Given the description of an element on the screen output the (x, y) to click on. 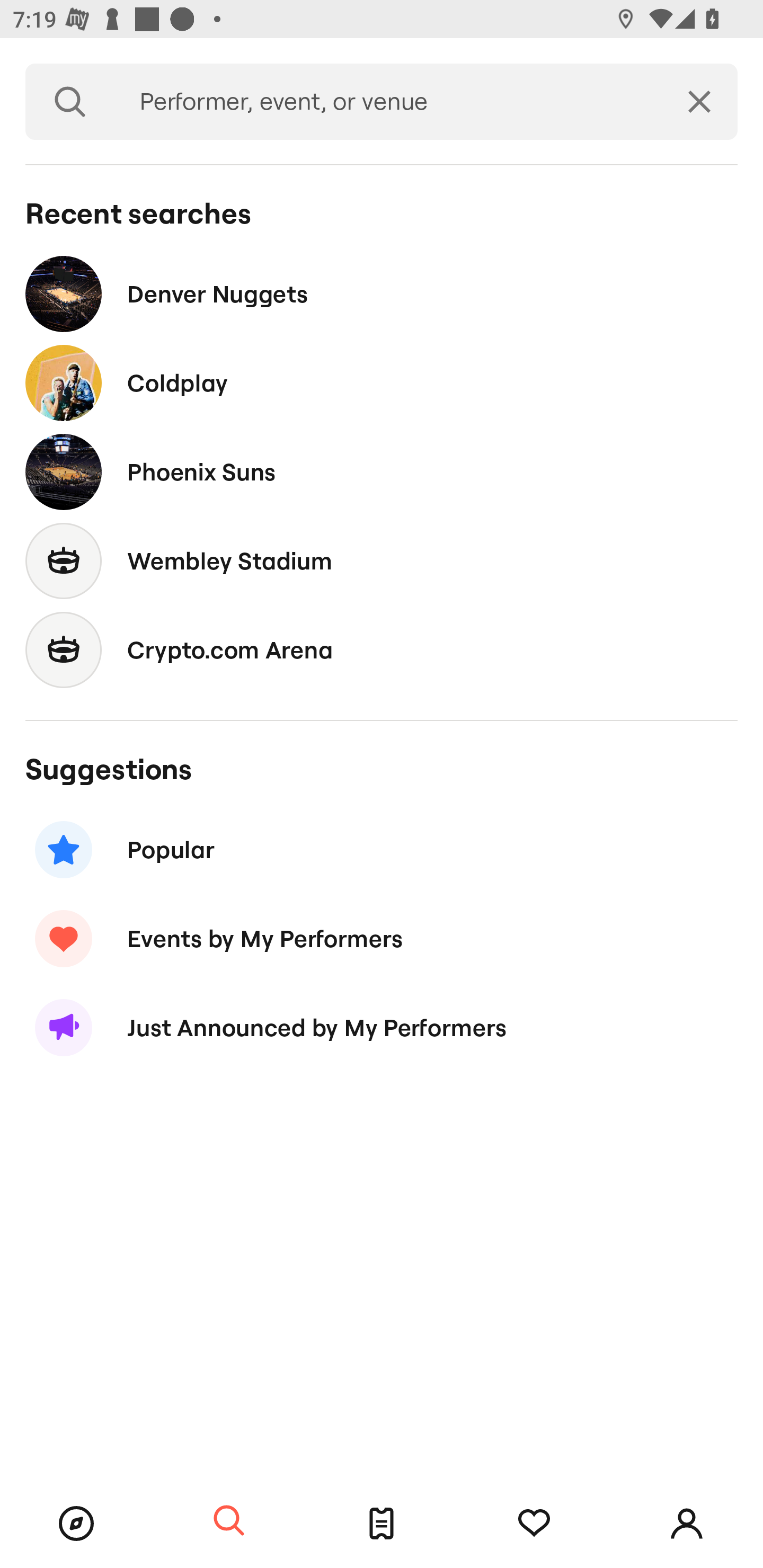
Search (69, 101)
Performer, event, or venue (387, 101)
Clear (699, 101)
Denver Nuggets (381, 293)
Coldplay (381, 383)
Phoenix Suns (381, 471)
Wembley Stadium (381, 560)
Crypto.com Arena (381, 649)
Popular (381, 849)
Events by My Performers (381, 938)
Just Announced by My Performers (381, 1027)
Browse (76, 1523)
Search (228, 1521)
Tickets (381, 1523)
Tracking (533, 1523)
Account (686, 1523)
